Given the description of an element on the screen output the (x, y) to click on. 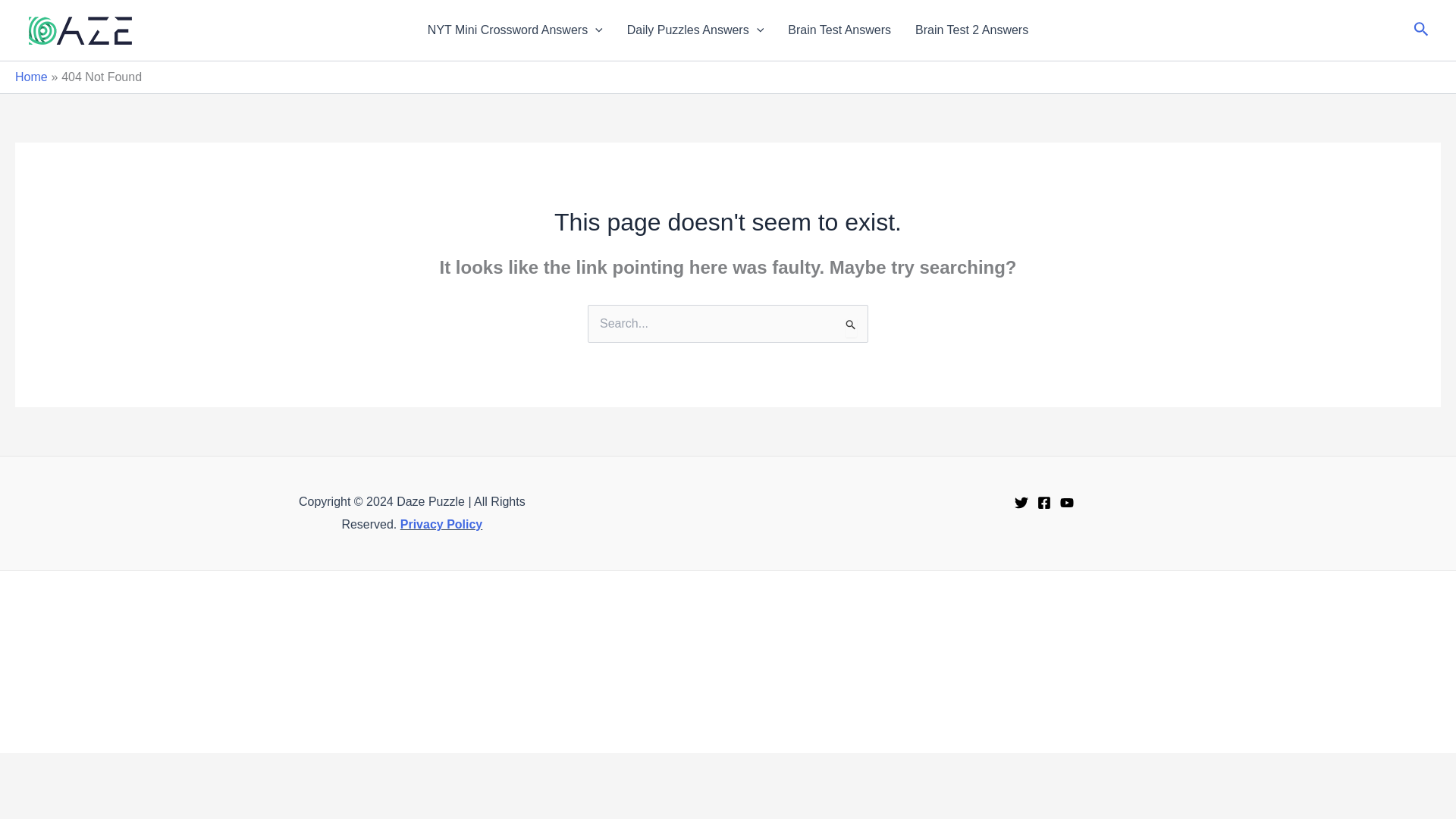
Daily Puzzles Answers (695, 30)
Brain Test 2 Answers (971, 30)
Brain Test Answers (839, 30)
NYT Mini Crossword Answers (514, 30)
